Given the description of an element on the screen output the (x, y) to click on. 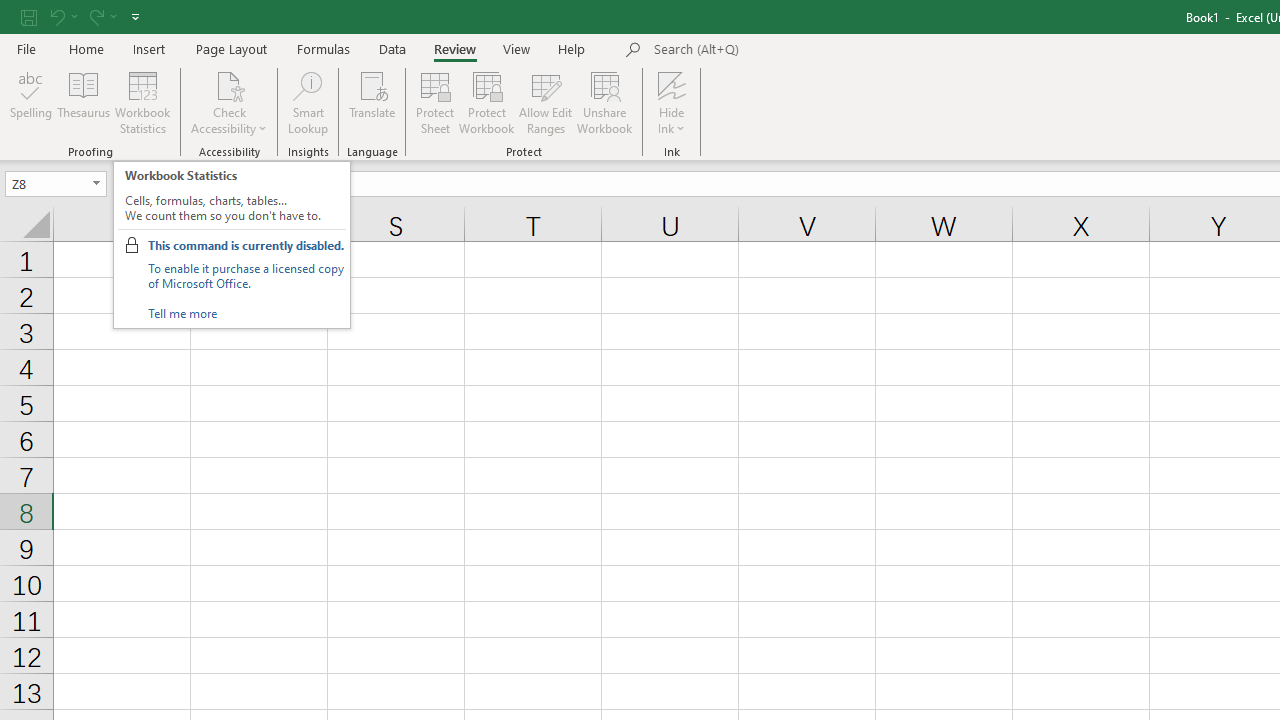
Workbook Statistics (142, 102)
Translate (372, 102)
This command is currently disabled. (245, 245)
Protect Workbook... (486, 102)
Smart Lookup (308, 102)
